Given the description of an element on the screen output the (x, y) to click on. 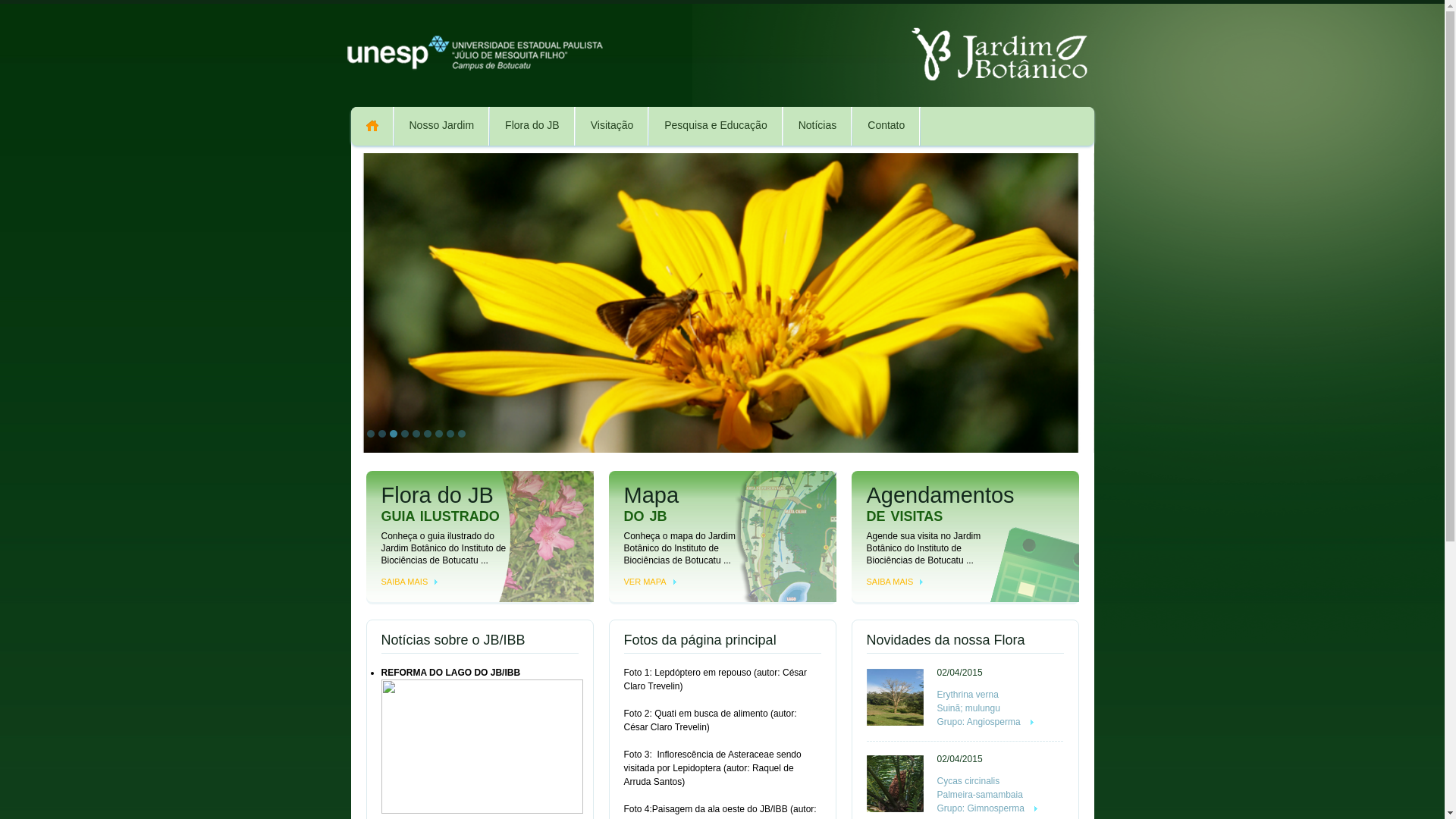
7 Element type: text (438, 433)
Cycas circinalis  
Palmeira-samambaia
Grupo: Gimnosperma Element type: text (987, 794)
2 Element type: text (381, 433)
SAIBA MAIS Element type: text (408, 581)
4 Element type: text (403, 433)
unesp botucatu Element type: text (473, 54)
VER MAPA Element type: text (649, 581)
Contato Element type: text (886, 125)
8 Element type: text (449, 433)
SAIBA MAIS Element type: text (894, 581)
6 Element type: text (426, 433)
3 Element type: text (393, 433)
Nosso Jardim Element type: text (442, 125)
9 Element type: text (461, 433)
Flora do JB Element type: text (532, 125)
1 Element type: text (370, 433)
5 Element type: text (416, 433)
